Given the description of an element on the screen output the (x, y) to click on. 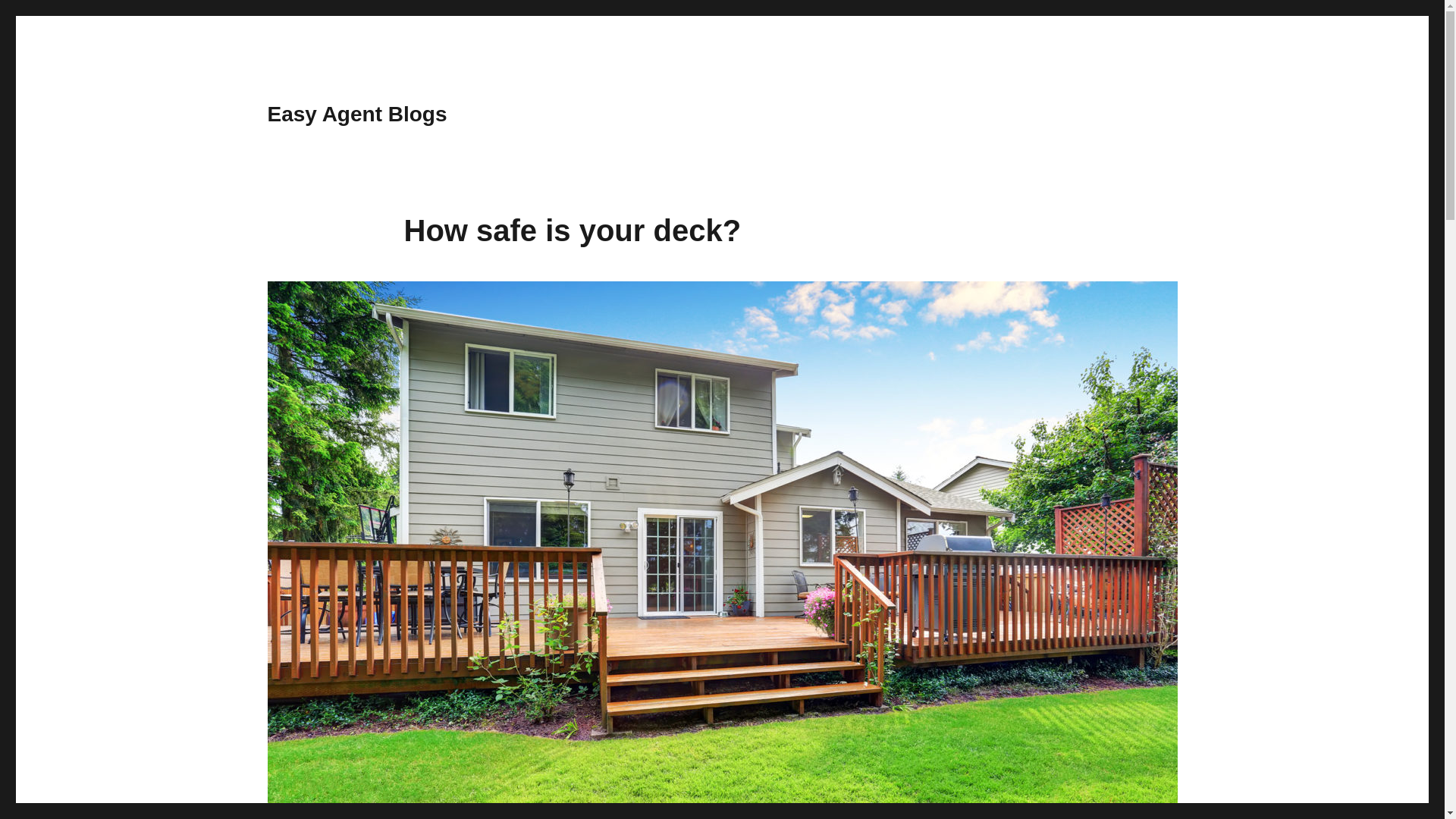
Easy Agent Blogs (356, 114)
